Given the description of an element on the screen output the (x, y) to click on. 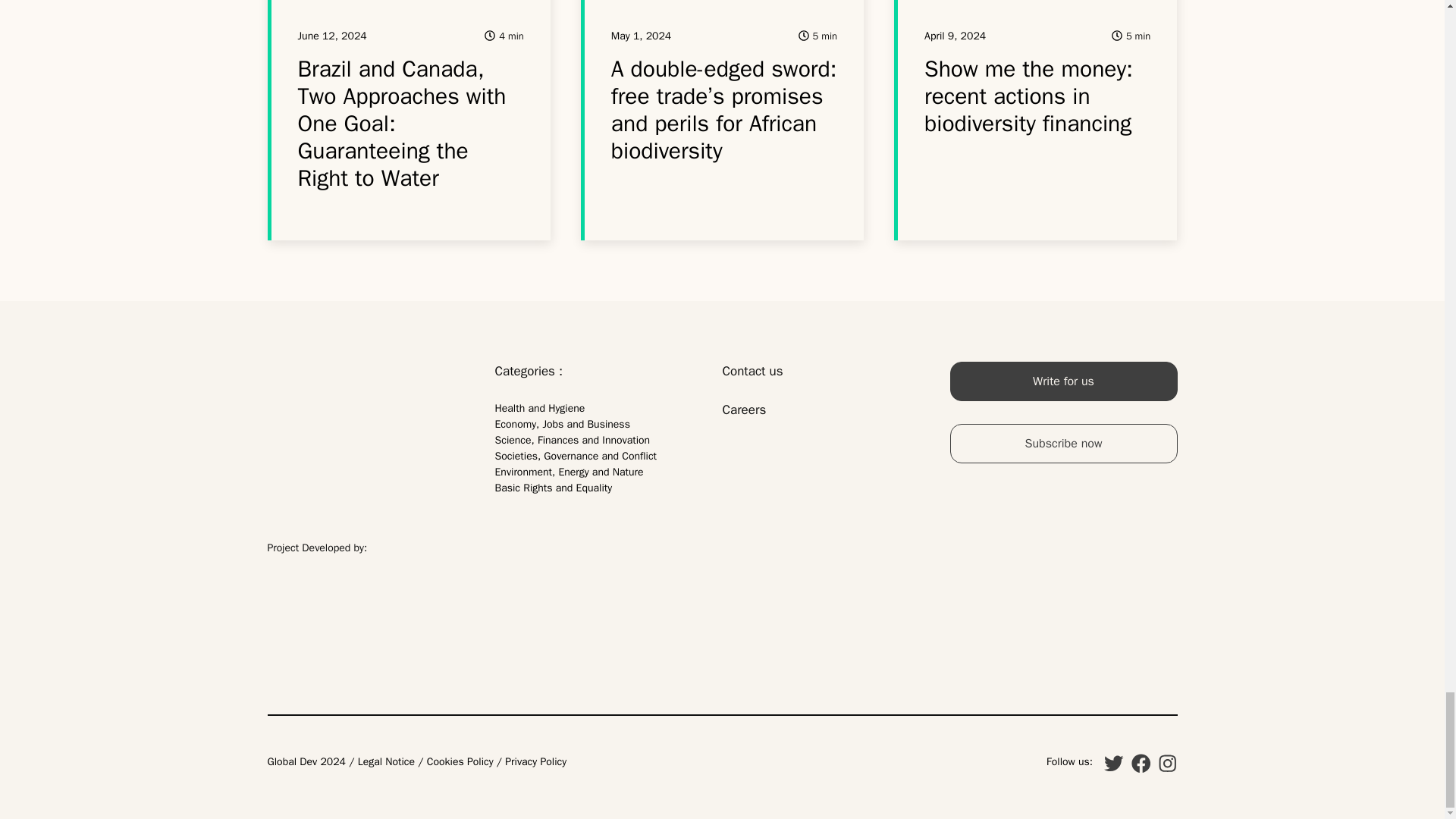
Show me the money: recent actions in biodiversity financing (1028, 96)
Health and Hygiene (540, 408)
